Given the description of an element on the screen output the (x, y) to click on. 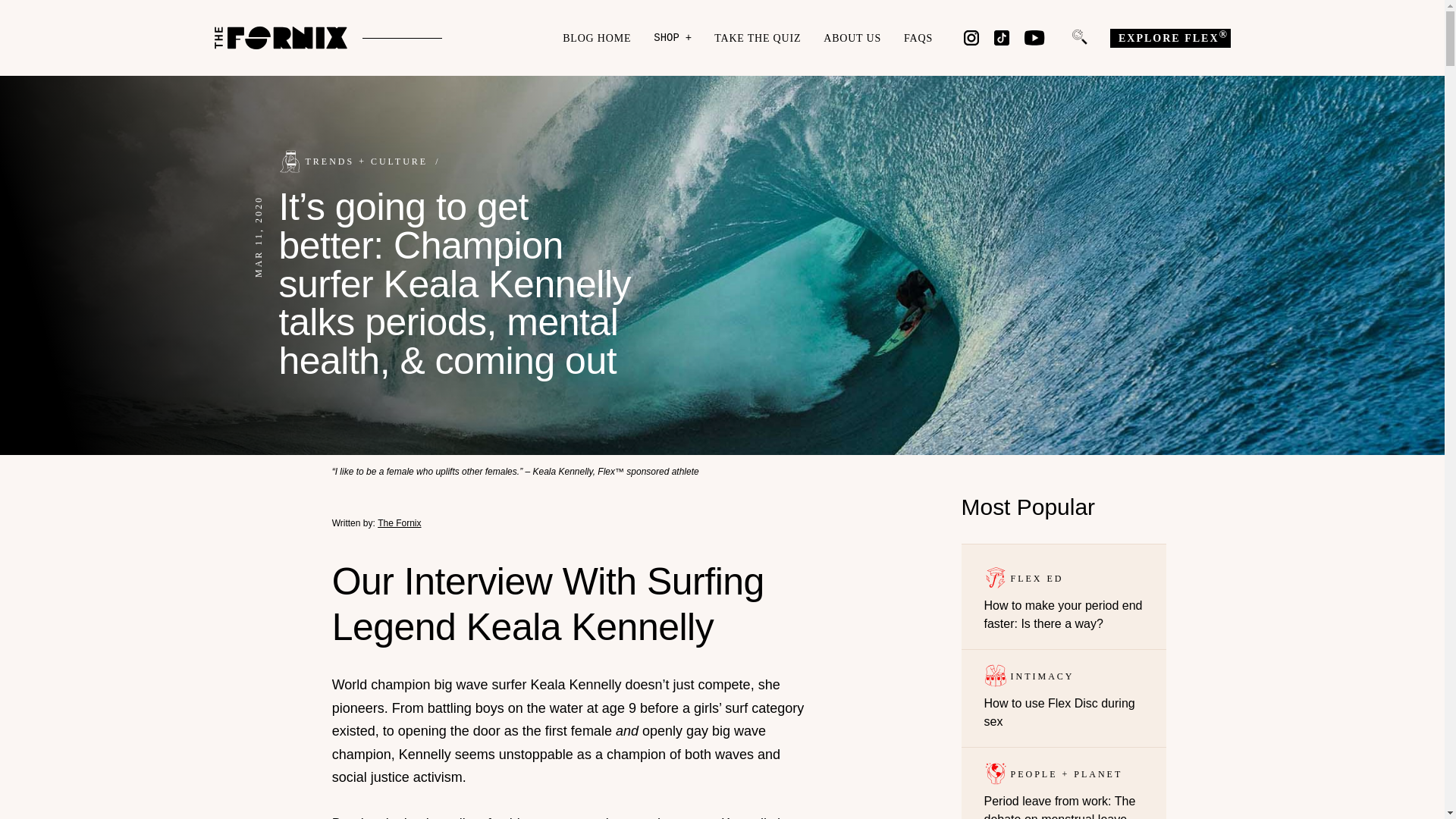
The Fornix (398, 522)
TAKE THE QUIZ (757, 37)
category-image (290, 160)
ABOUT US (852, 37)
EXPLORE FLEX (1169, 37)
category-image (995, 675)
BLOG HOME (596, 37)
category-image (995, 773)
category-image (995, 577)
FAQS (918, 37)
